Given the description of an element on the screen output the (x, y) to click on. 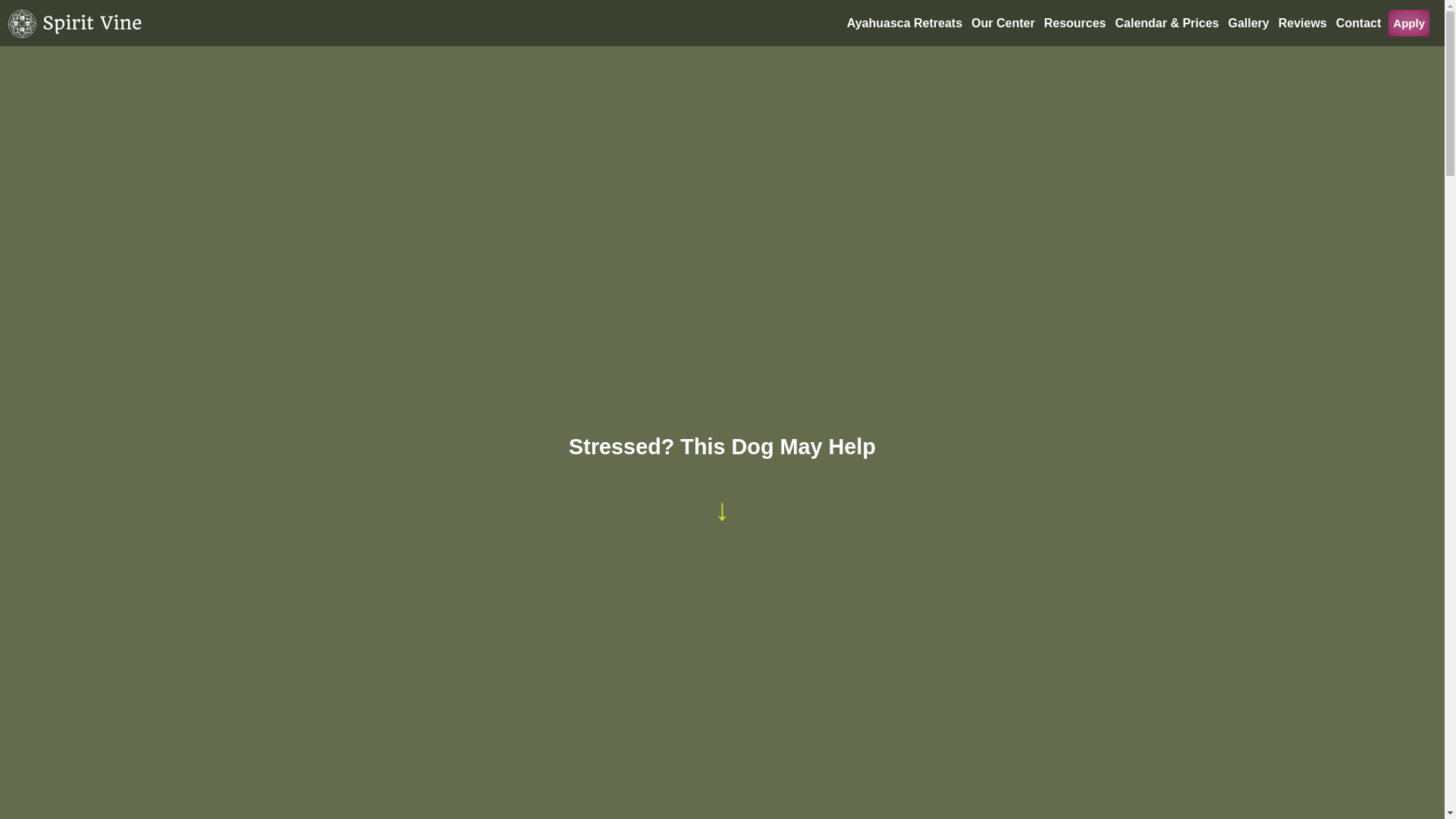
Our Center (1002, 22)
Contact (1359, 22)
Gallery (1247, 22)
sv-white-logo (75, 23)
Reviews (1303, 22)
Apply (1409, 22)
Resources (1074, 22)
Ayahuasca Retreats (904, 22)
